Given the description of an element on the screen output the (x, y) to click on. 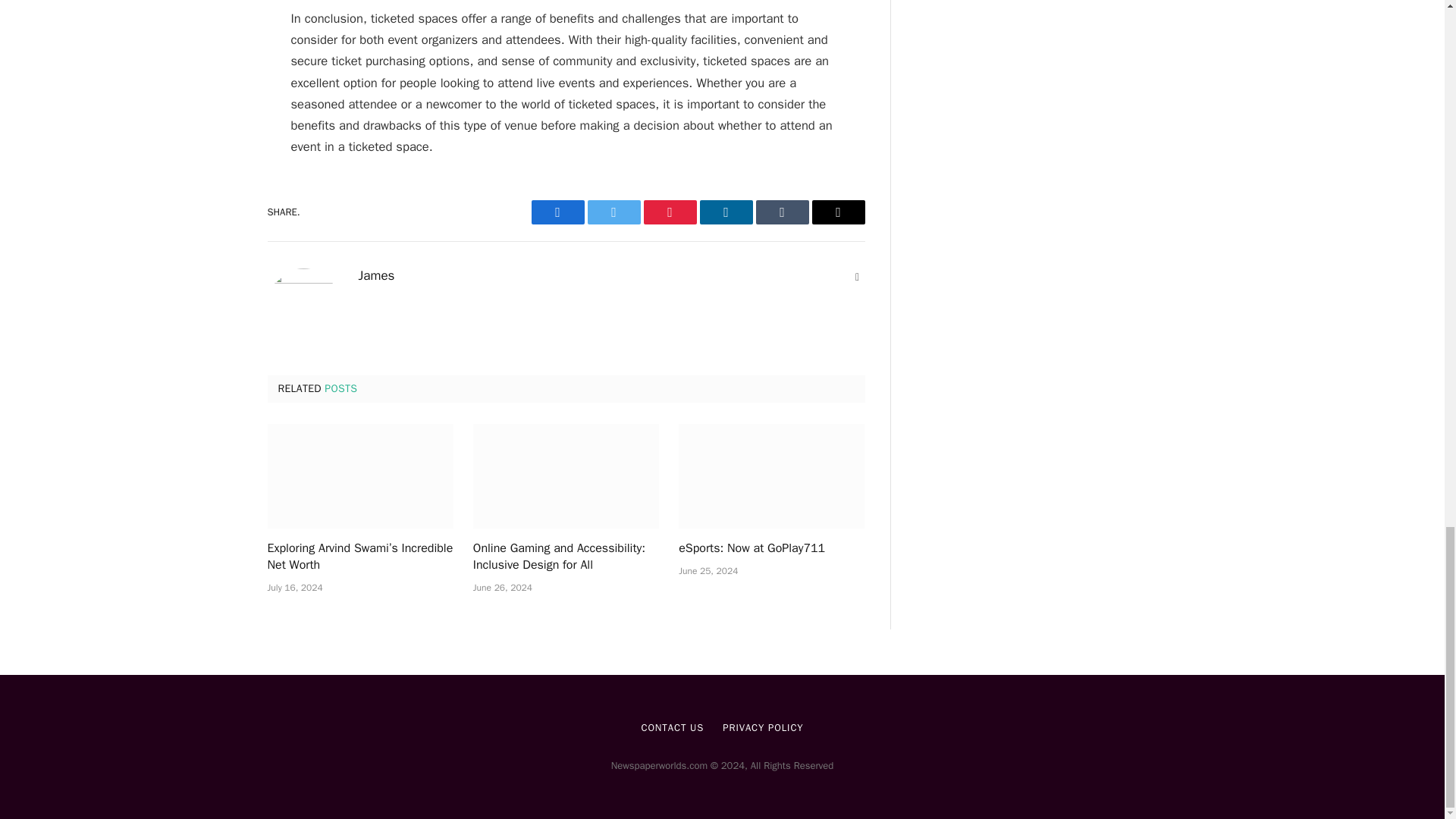
Twitter (613, 211)
Facebook (557, 211)
Pinterest (669, 211)
